Given the description of an element on the screen output the (x, y) to click on. 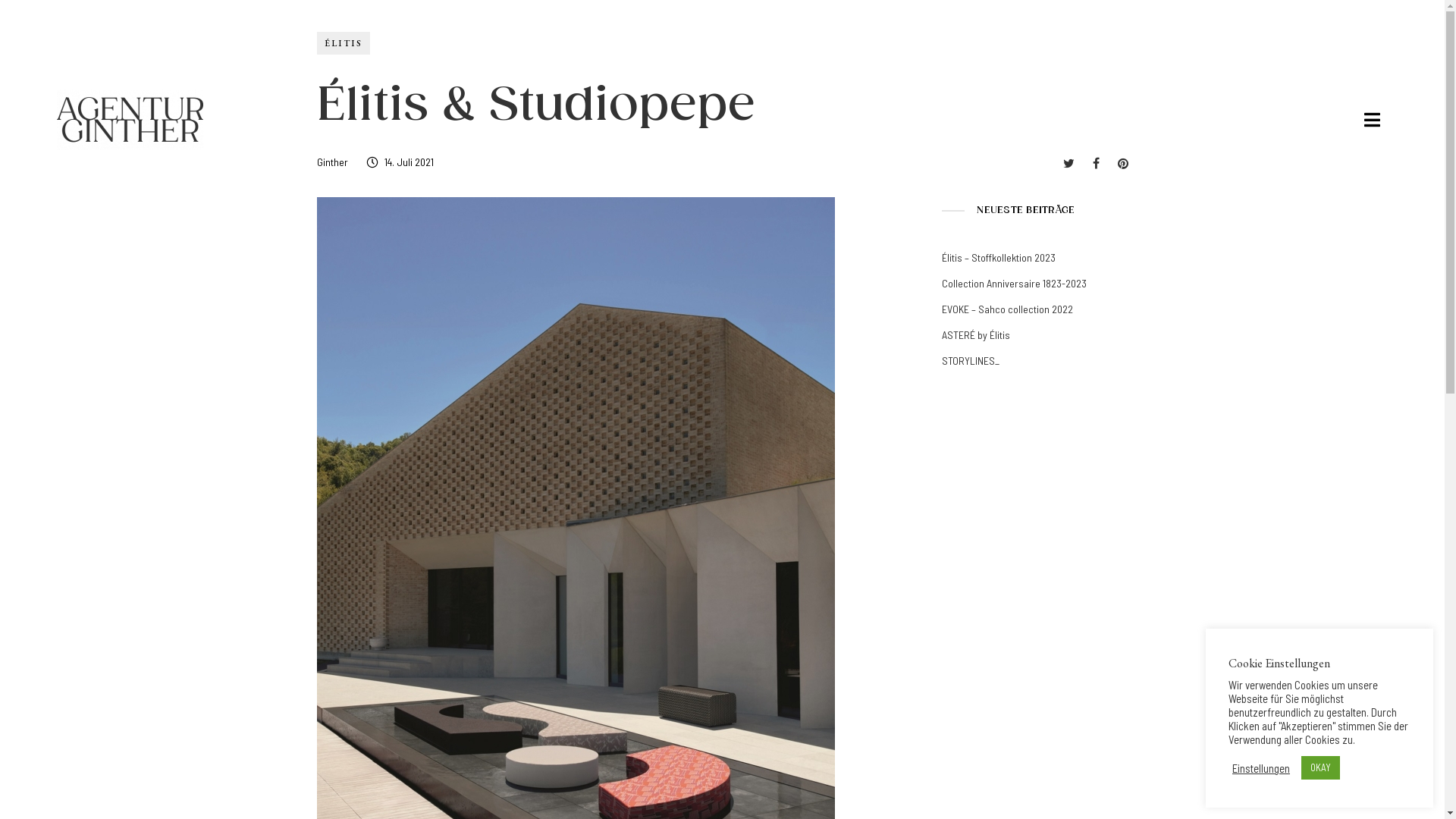
STORYLINES_ Element type: text (970, 360)
Social Share pinterest Element type: hover (1122, 162)
Social Share twitter Element type: hover (1068, 162)
OKAY Element type: text (1320, 767)
Einstellungen Element type: text (1260, 768)
Ginther Element type: text (332, 162)
Social Share facebook Element type: hover (1095, 162)
Collection Anniversaire 1823-2023 Element type: text (1013, 282)
